Given the description of an element on the screen output the (x, y) to click on. 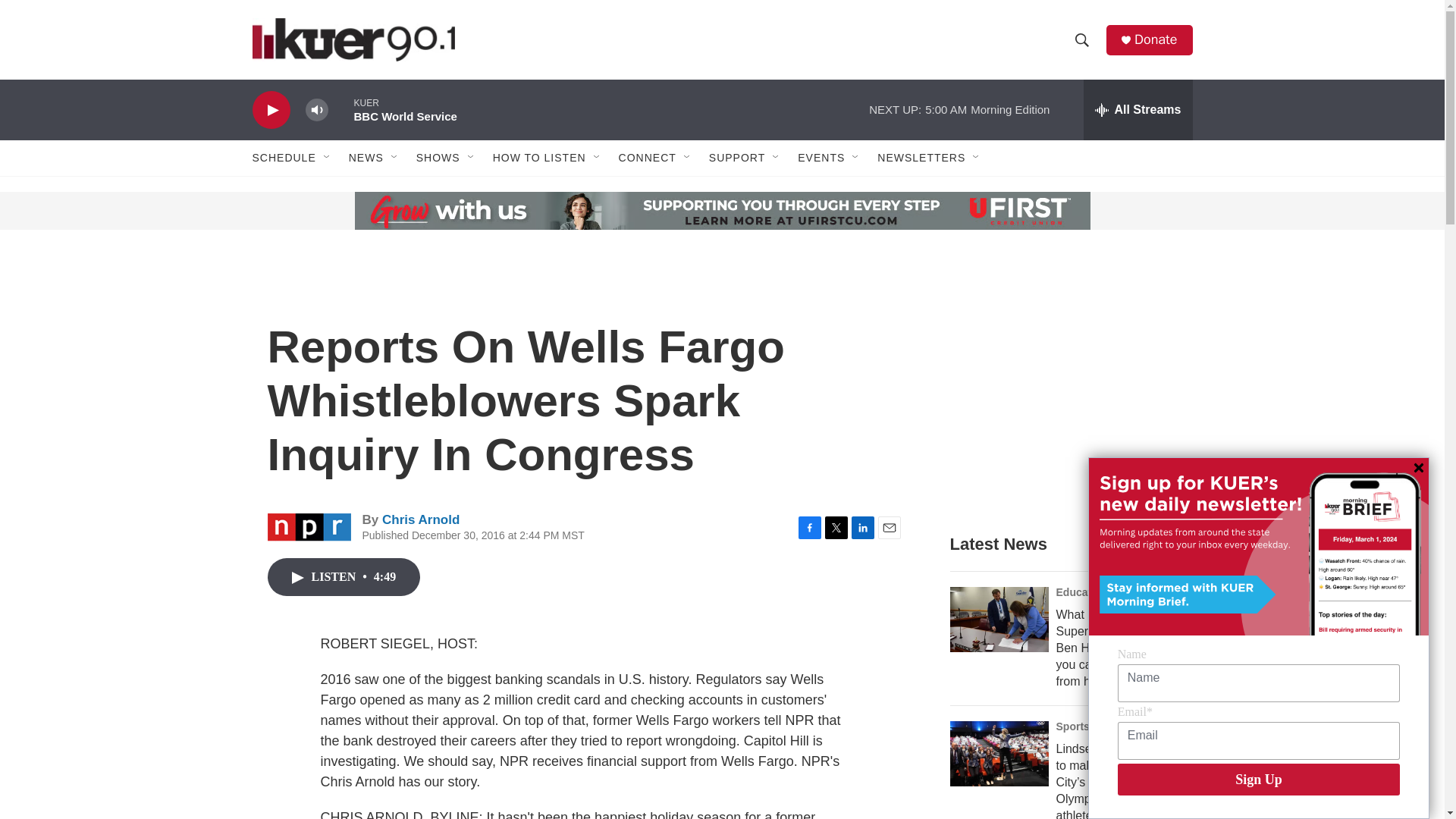
3rd party ad content (367, 210)
3rd party ad content (1062, 388)
Close (1418, 468)
Sign Up (1259, 779)
